Given the description of an element on the screen output the (x, y) to click on. 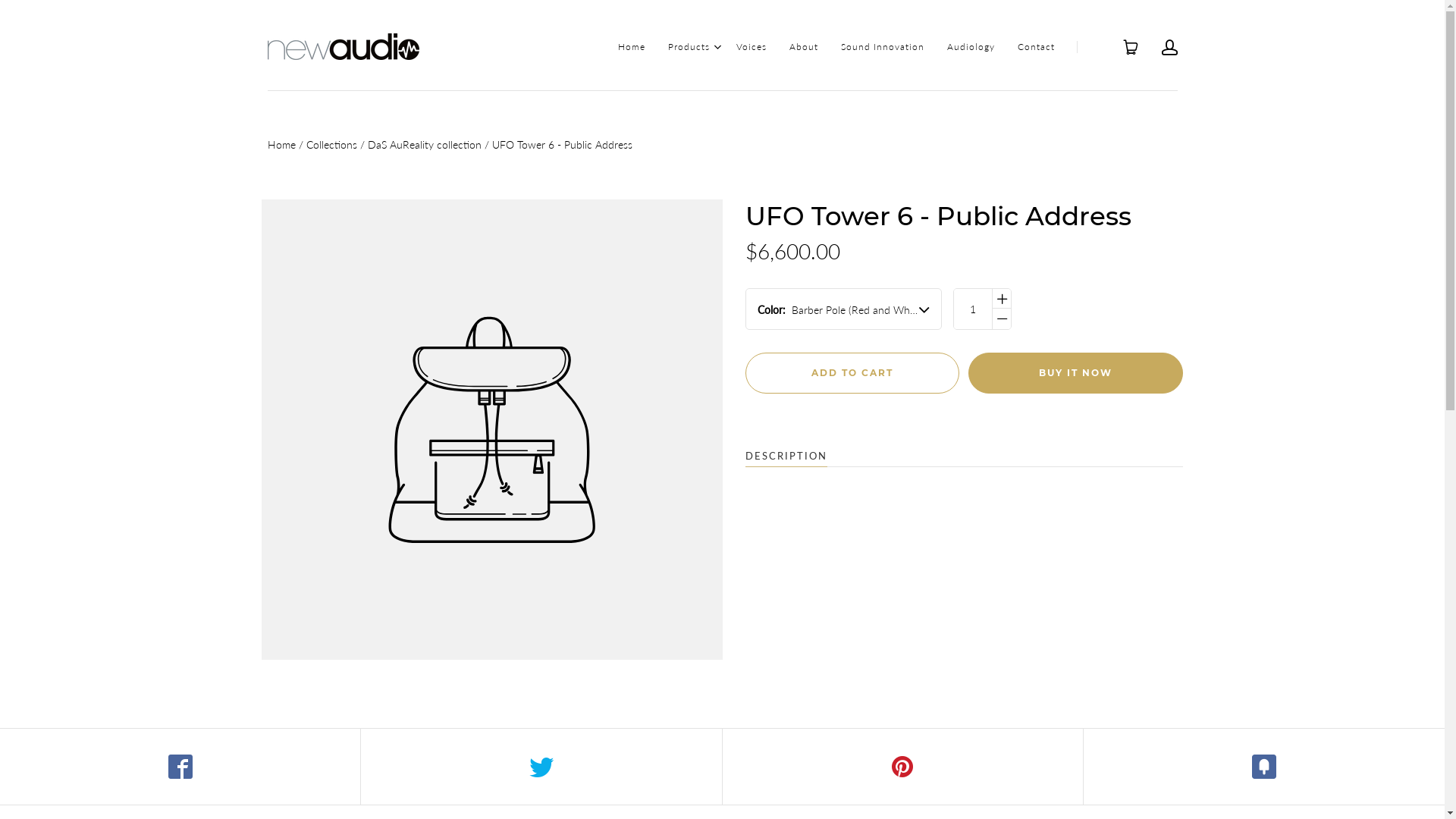
Pin it Element type: text (901, 766)
Collections Element type: text (331, 144)
Share Element type: text (180, 766)
About Element type: text (802, 46)
Home Element type: text (280, 144)
BUY IT NOW Element type: text (1075, 372)
Contact Element type: text (1035, 46)
Sound Innovation Element type: text (881, 46)
Tweet Element type: text (540, 766)
Fancy Element type: text (1263, 766)
Add to cart Element type: text (851, 372)
Home Element type: text (630, 46)
Products Element type: text (688, 46)
DaS AuReality collection Element type: text (423, 144)
Audiology Element type: text (970, 46)
Voices Element type: text (750, 46)
